Given the description of an element on the screen output the (x, y) to click on. 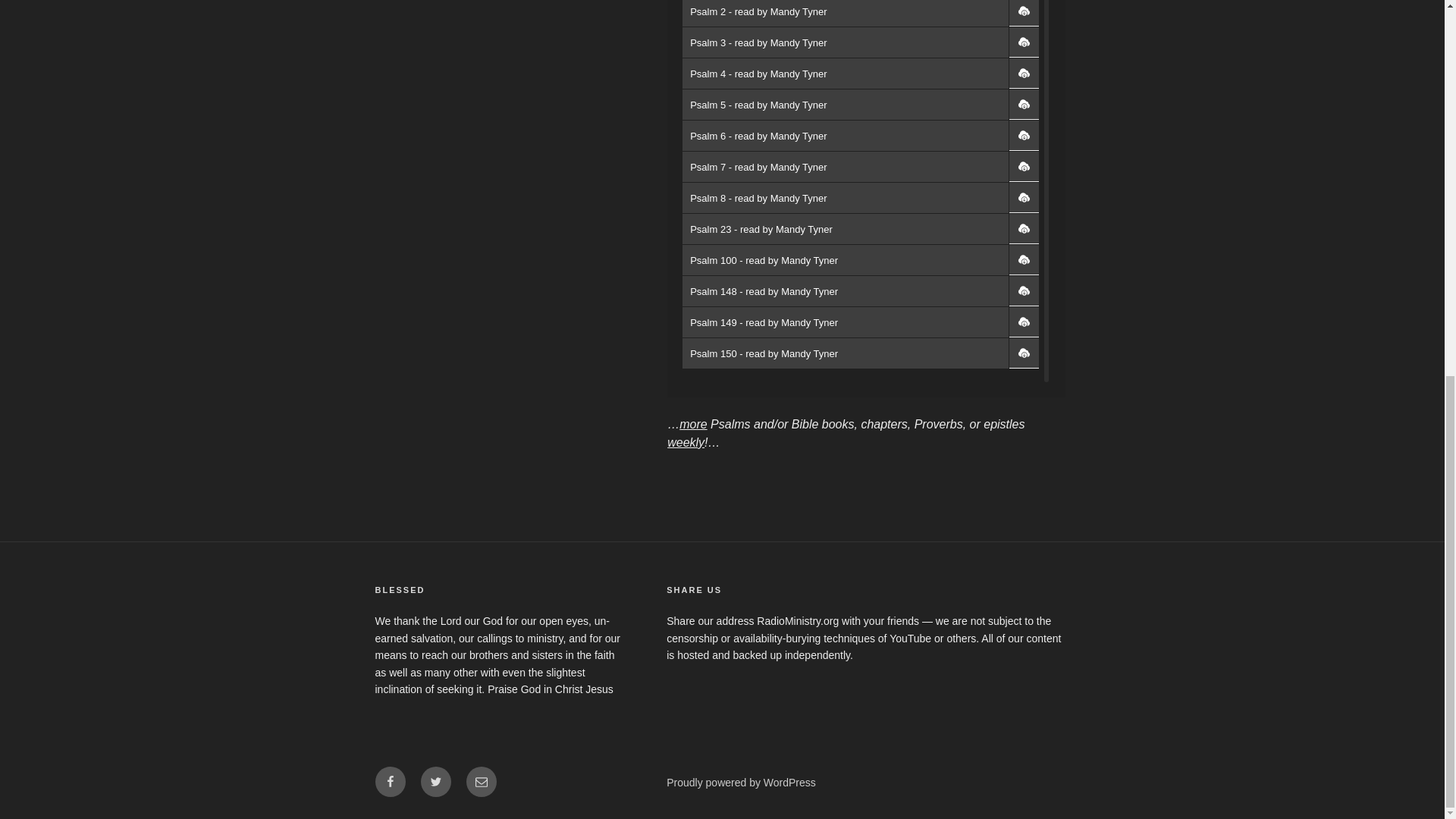
Twitter (435, 781)
Download this track (1024, 291)
Download this track (1024, 42)
Download this track (1024, 322)
Facebook (389, 781)
Download this track (1024, 135)
Download this track (1024, 104)
Proudly powered by WordPress (740, 782)
Download this track (1024, 166)
Email (480, 781)
Download this track (1024, 353)
Download this track (1024, 73)
Download this track (1024, 13)
Download this track (1024, 259)
